Given the description of an element on the screen output the (x, y) to click on. 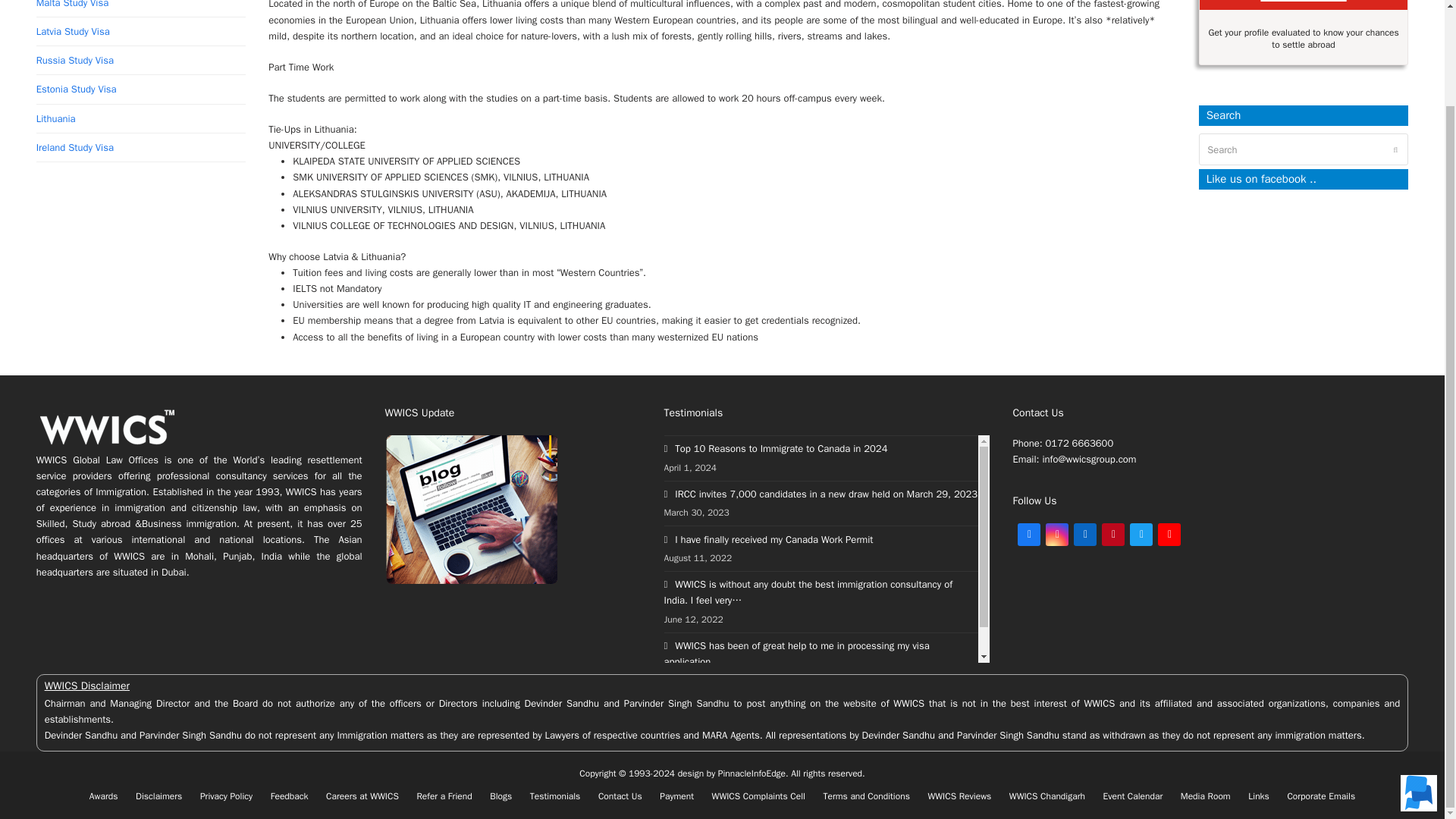
Youtube (1168, 534)
Twitter (1141, 534)
Total Homepage (107, 443)
LinkedIn (1085, 534)
fb:page Facebook Social Plugin (1303, 265)
Facebook (1029, 534)
Pinterest (1113, 534)
Instagram (1056, 534)
